Given the description of an element on the screen output the (x, y) to click on. 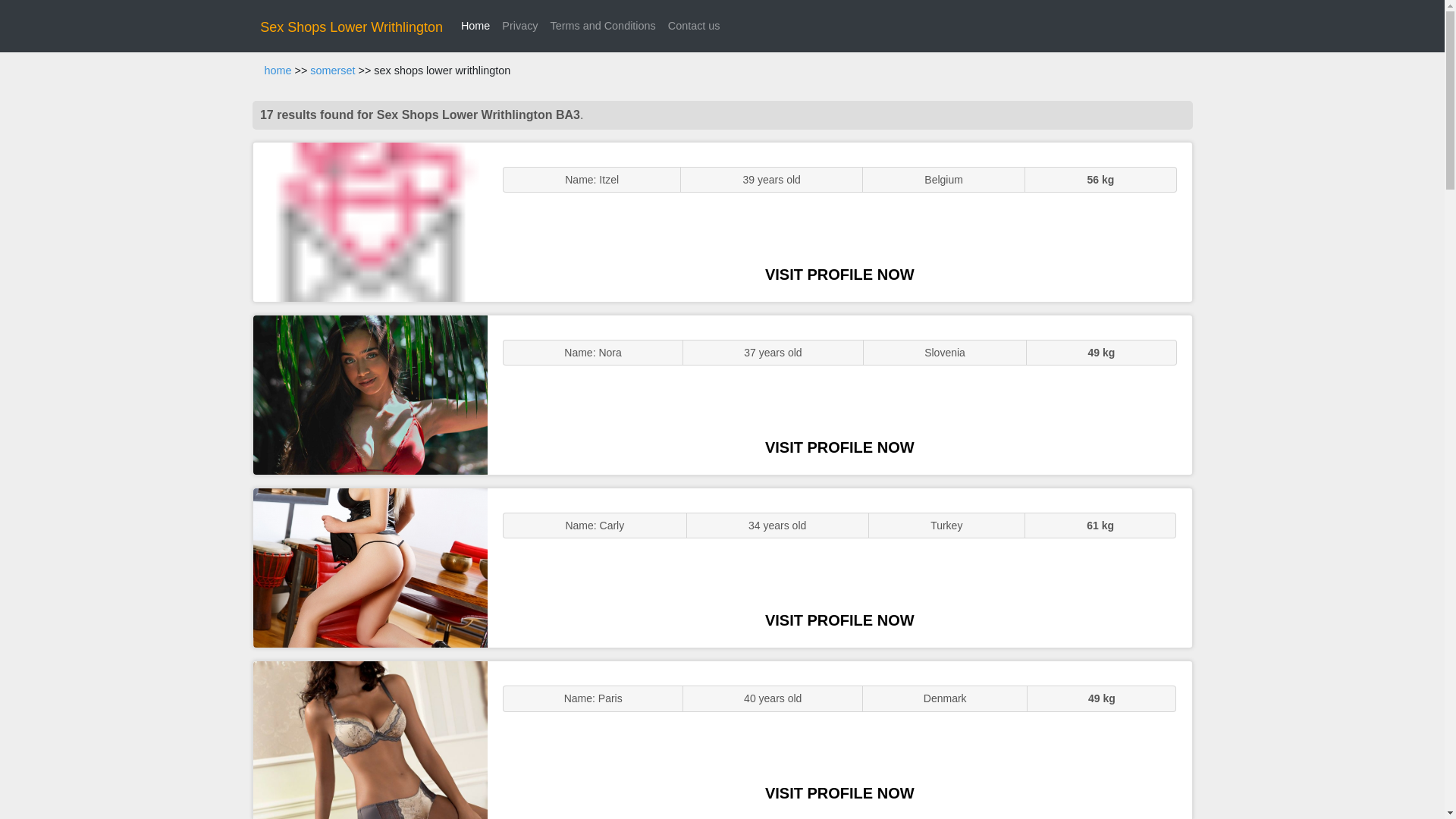
GFE (370, 395)
Sluts (370, 739)
 ENGLISH STUNNER (370, 222)
somerset (332, 70)
home (277, 70)
Sex Shops Lower Writhlington (351, 27)
VISIT PROFILE NOW (839, 792)
VISIT PROFILE NOW (839, 446)
Sexy (370, 567)
Terms and Conditions (603, 25)
Contact us (694, 25)
VISIT PROFILE NOW (839, 619)
Privacy (519, 25)
VISIT PROFILE NOW (839, 274)
